Given the description of an element on the screen output the (x, y) to click on. 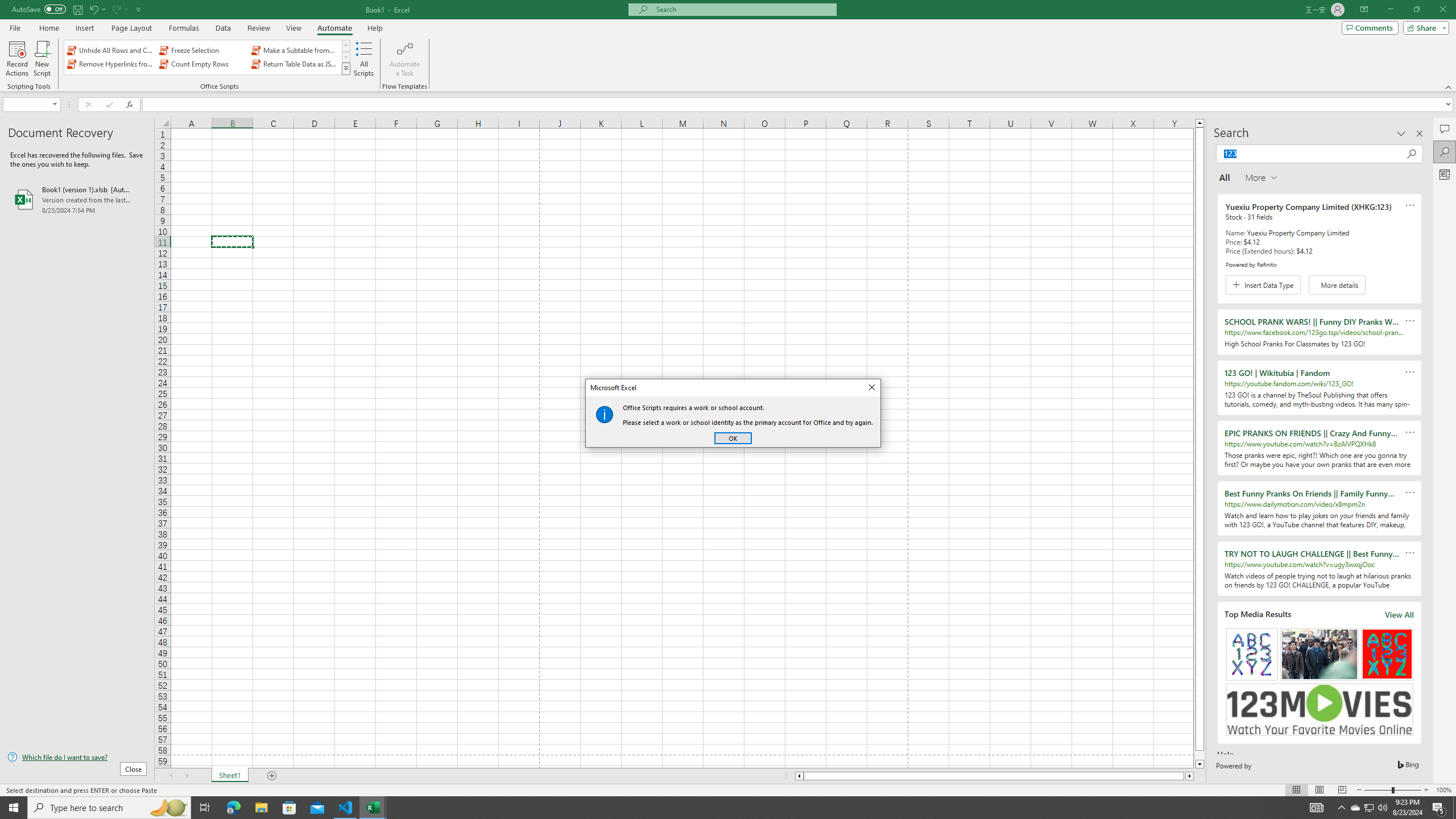
Insert (83, 28)
Remove Hyperlinks from Sheet (111, 64)
Add Sheet (272, 775)
Notification Chevron (1341, 807)
Record Actions (17, 58)
OK (732, 437)
Formulas (184, 28)
Analyze Data (1444, 173)
Automate (334, 28)
Customize Quick Access Toolbar (139, 9)
Ribbon Display Options (1364, 9)
Help (374, 28)
